Given the description of an element on the screen output the (x, y) to click on. 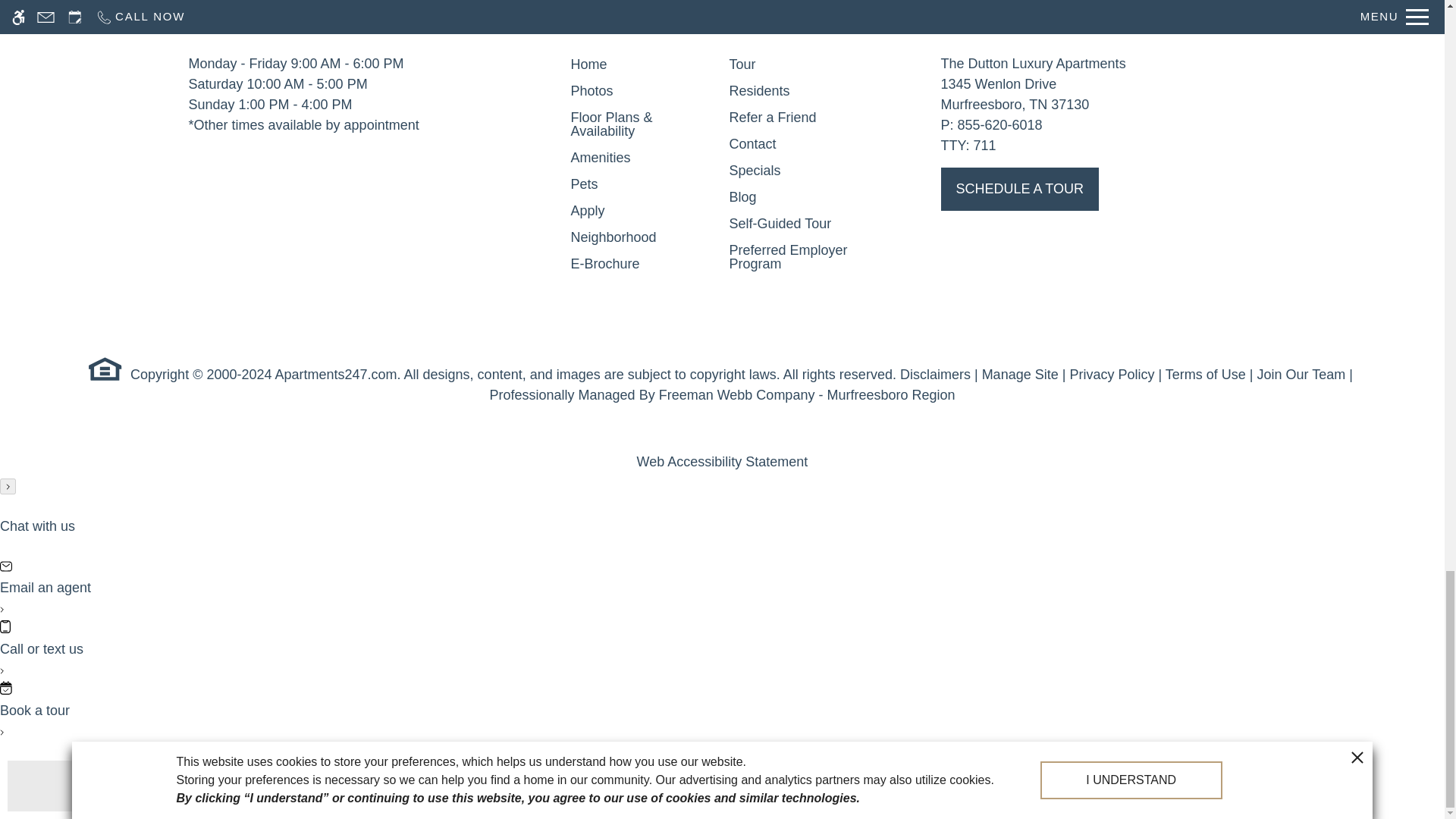
Freeman Webb Company - Murfreesboro Region (807, 395)
Manage Site (1019, 374)
